Given the description of an element on the screen output the (x, y) to click on. 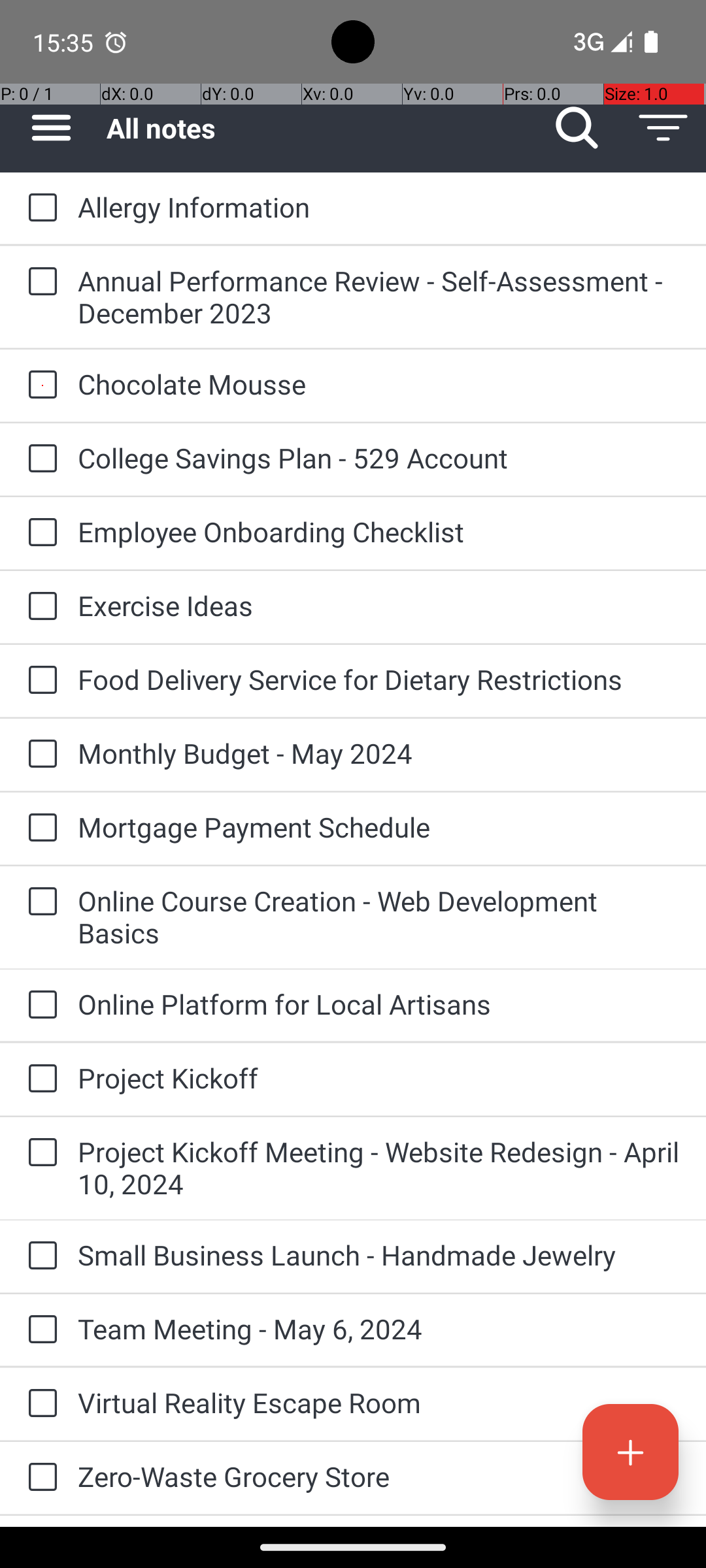
to-do: Chocolate Mousse Element type: android.widget.CheckBox (38, 385)
Chocolate Mousse Element type: android.widget.TextView (378, 383)
to-do: College Savings Plan - 529 Account Element type: android.widget.CheckBox (38, 459)
College Savings Plan - 529 Account Element type: android.widget.TextView (378, 457)
to-do: Employee Onboarding Checklist Element type: android.widget.CheckBox (38, 533)
Employee Onboarding Checklist Element type: android.widget.TextView (378, 531)
to-do: Food Delivery Service for Dietary Restrictions Element type: android.widget.CheckBox (38, 680)
to-do: Monthly Budget - May 2024 Element type: android.widget.CheckBox (38, 754)
Monthly Budget - May 2024 Element type: android.widget.TextView (378, 752)
to-do: Mortgage Payment Schedule Element type: android.widget.CheckBox (38, 828)
Mortgage Payment Schedule Element type: android.widget.TextView (378, 826)
to-do: Online Platform for Local Artisans Element type: android.widget.CheckBox (38, 1005)
Online Platform for Local Artisans Element type: android.widget.TextView (378, 1003)
to-do: Project Kickoff Element type: android.widget.CheckBox (38, 1079)
Project Kickoff Element type: android.widget.TextView (378, 1077)
to-do: Project Kickoff Meeting - Website Redesign - April 10, 2024 Element type: android.widget.CheckBox (38, 1153)
Project Kickoff Meeting - Website Redesign - April 10, 2024 Element type: android.widget.TextView (378, 1167)
to-do: Small Business Launch - Handmade Jewelry Element type: android.widget.CheckBox (38, 1256)
Small Business Launch - Handmade Jewelry Element type: android.widget.TextView (378, 1254)
to-do: Virtual Reality Escape Room Element type: android.widget.CheckBox (38, 1403)
Virtual Reality Escape Room Element type: android.widget.TextView (378, 1402)
to-do: Zero-Waste Grocery Store Element type: android.widget.CheckBox (38, 1477)
Zero-Waste Grocery Store Element type: android.widget.TextView (378, 1475)
